Given the description of an element on the screen output the (x, y) to click on. 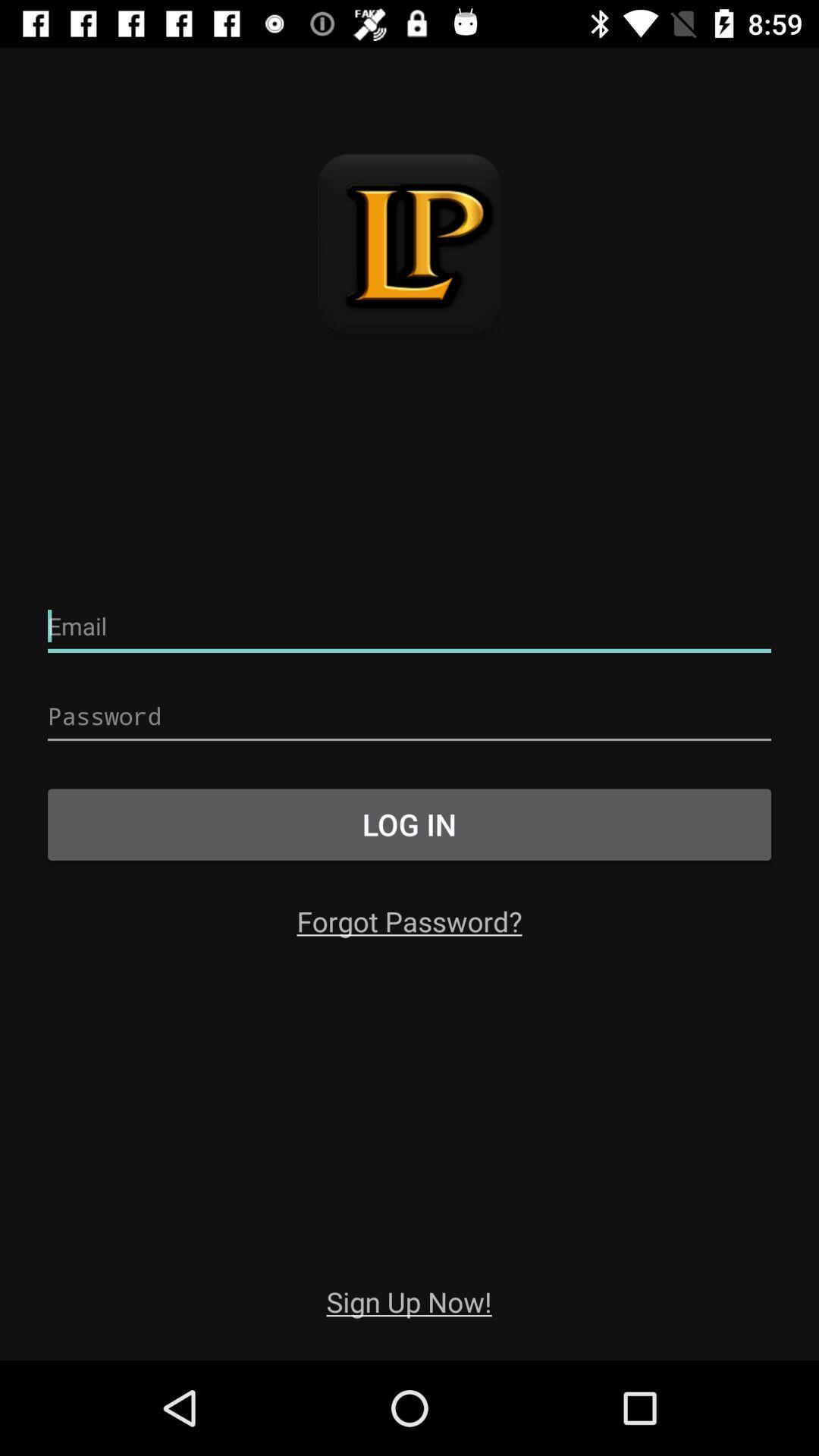
swipe until the forgot password? (409, 921)
